Given the description of an element on the screen output the (x, y) to click on. 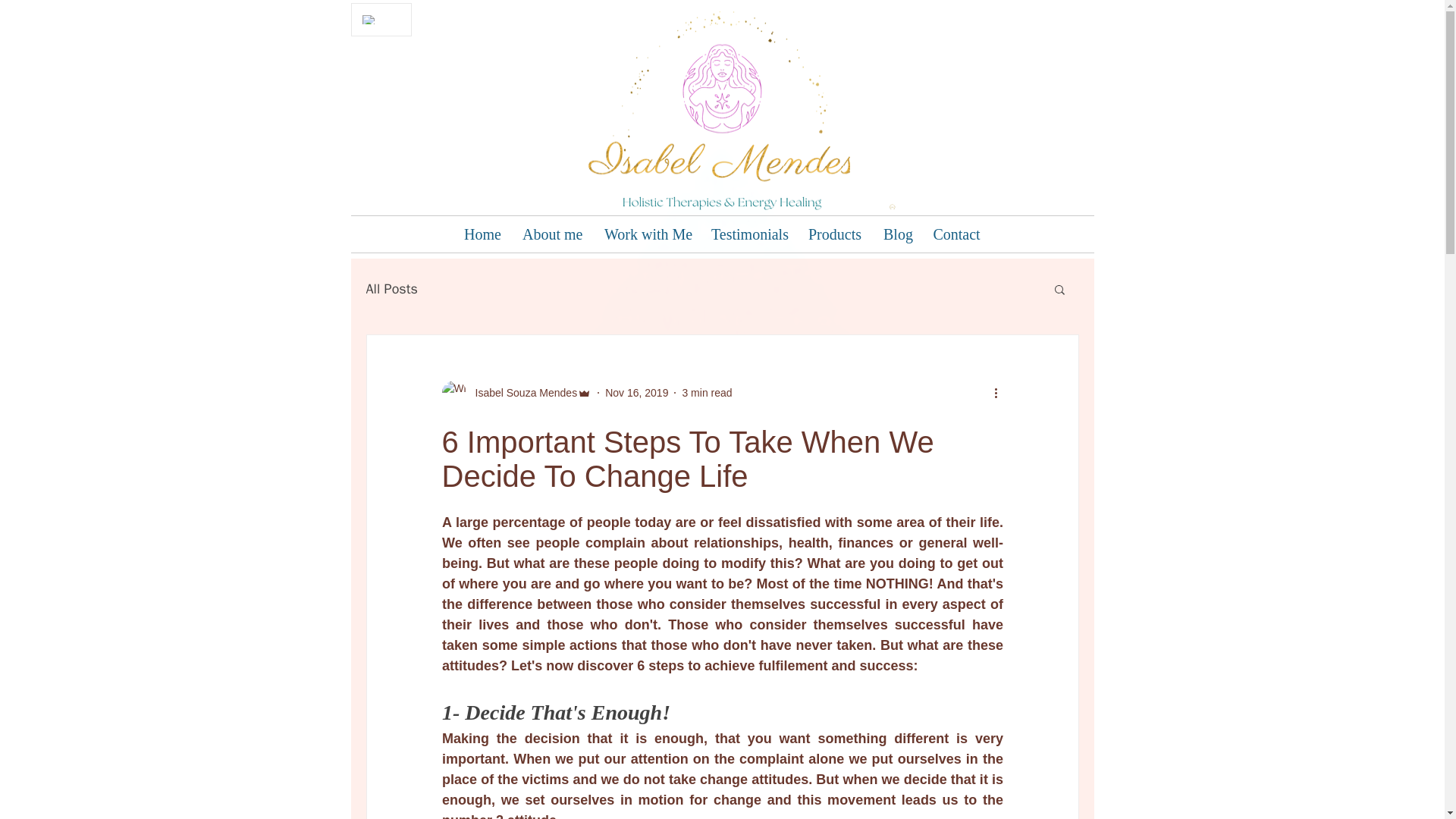
Home (481, 234)
Isabel Souza Mendes (516, 392)
Nov 16, 2019 (636, 392)
Testimonials (748, 234)
3 min read (706, 392)
Contact (956, 234)
Isabel Souza Mendes (520, 392)
Blog (896, 234)
All Posts (390, 289)
About me (551, 234)
